Given the description of an element on the screen output the (x, y) to click on. 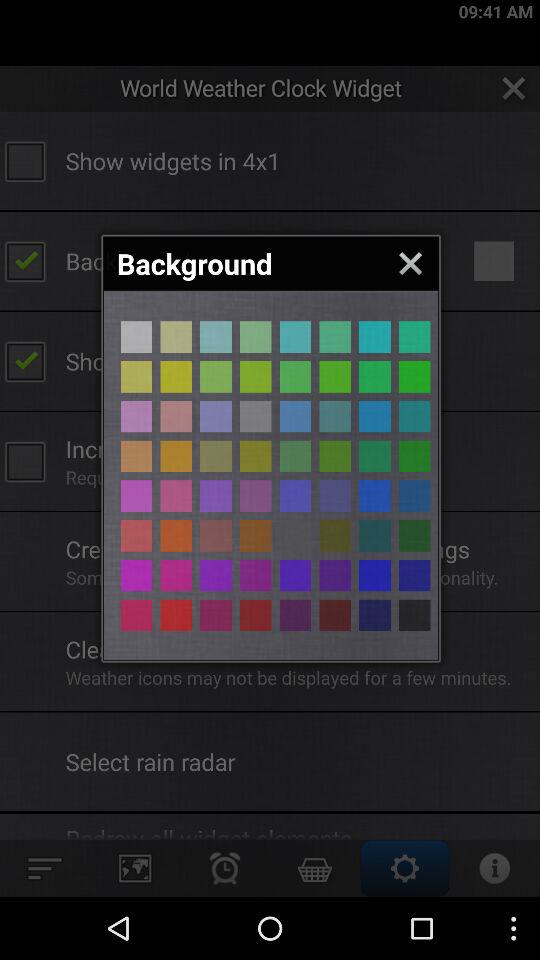
choose a color (374, 615)
